Given the description of an element on the screen output the (x, y) to click on. 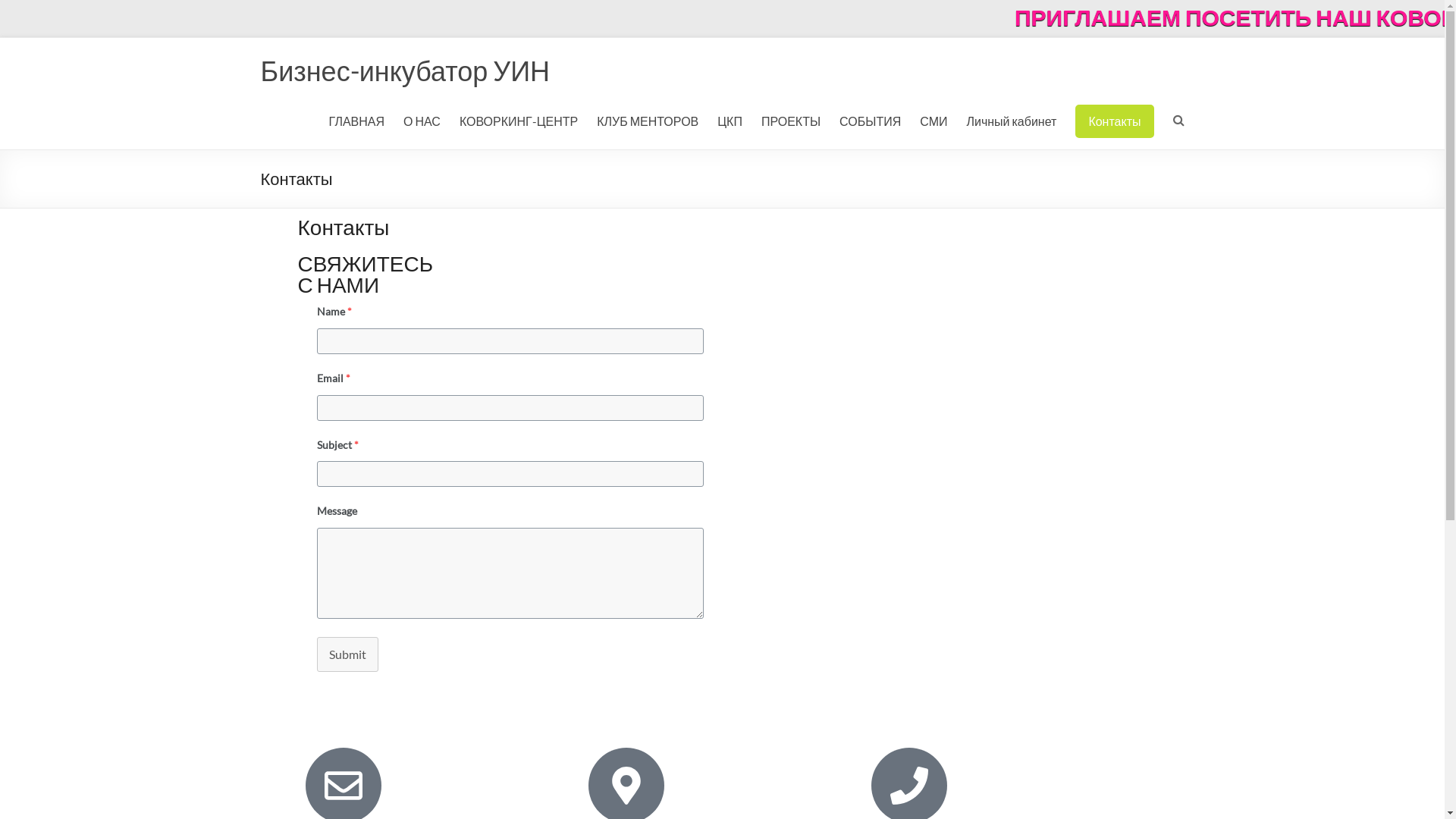
Submit Element type: text (347, 654)
